Given the description of an element on the screen output the (x, y) to click on. 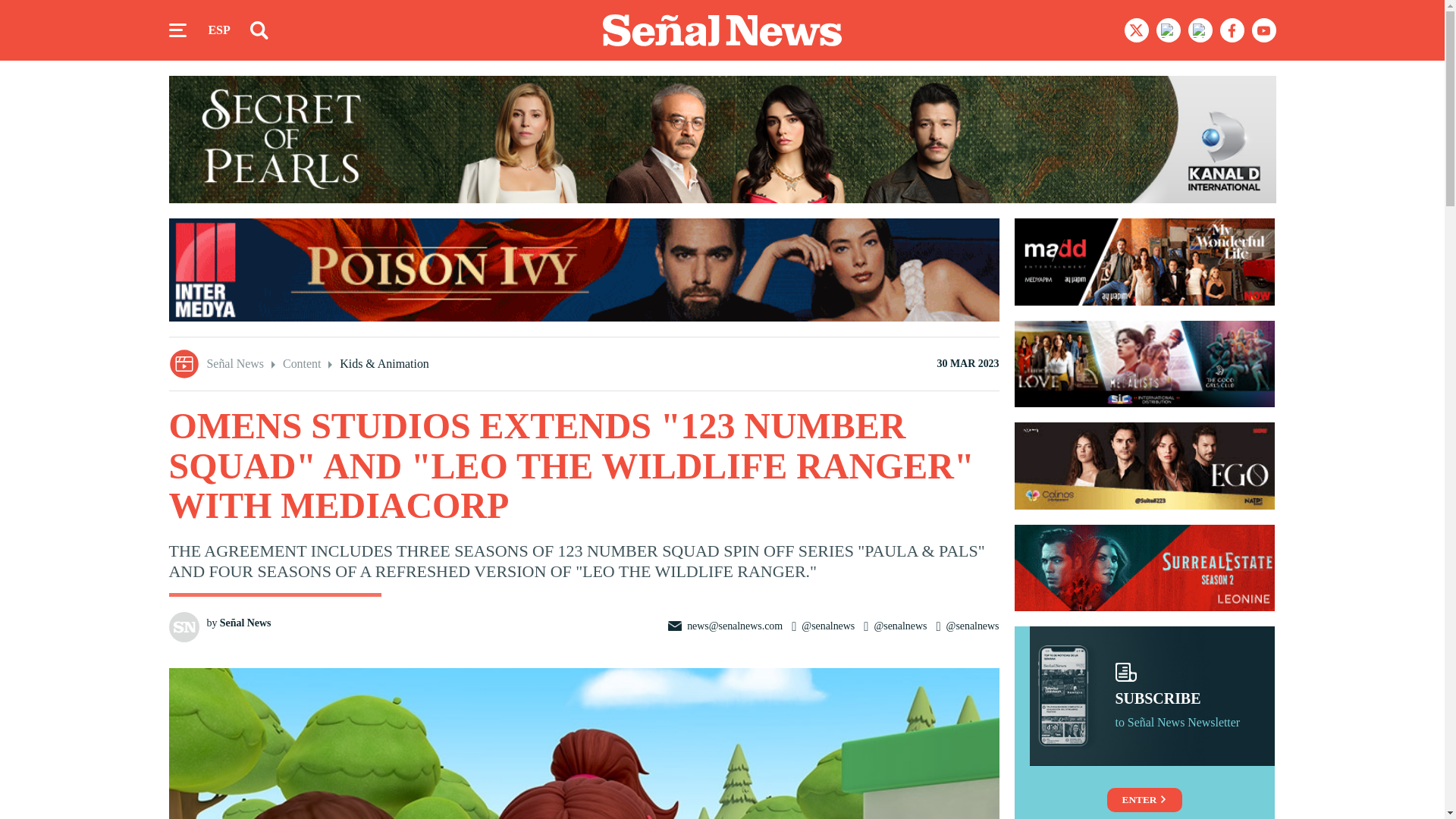
ESP (219, 30)
